Given the description of an element on the screen output the (x, y) to click on. 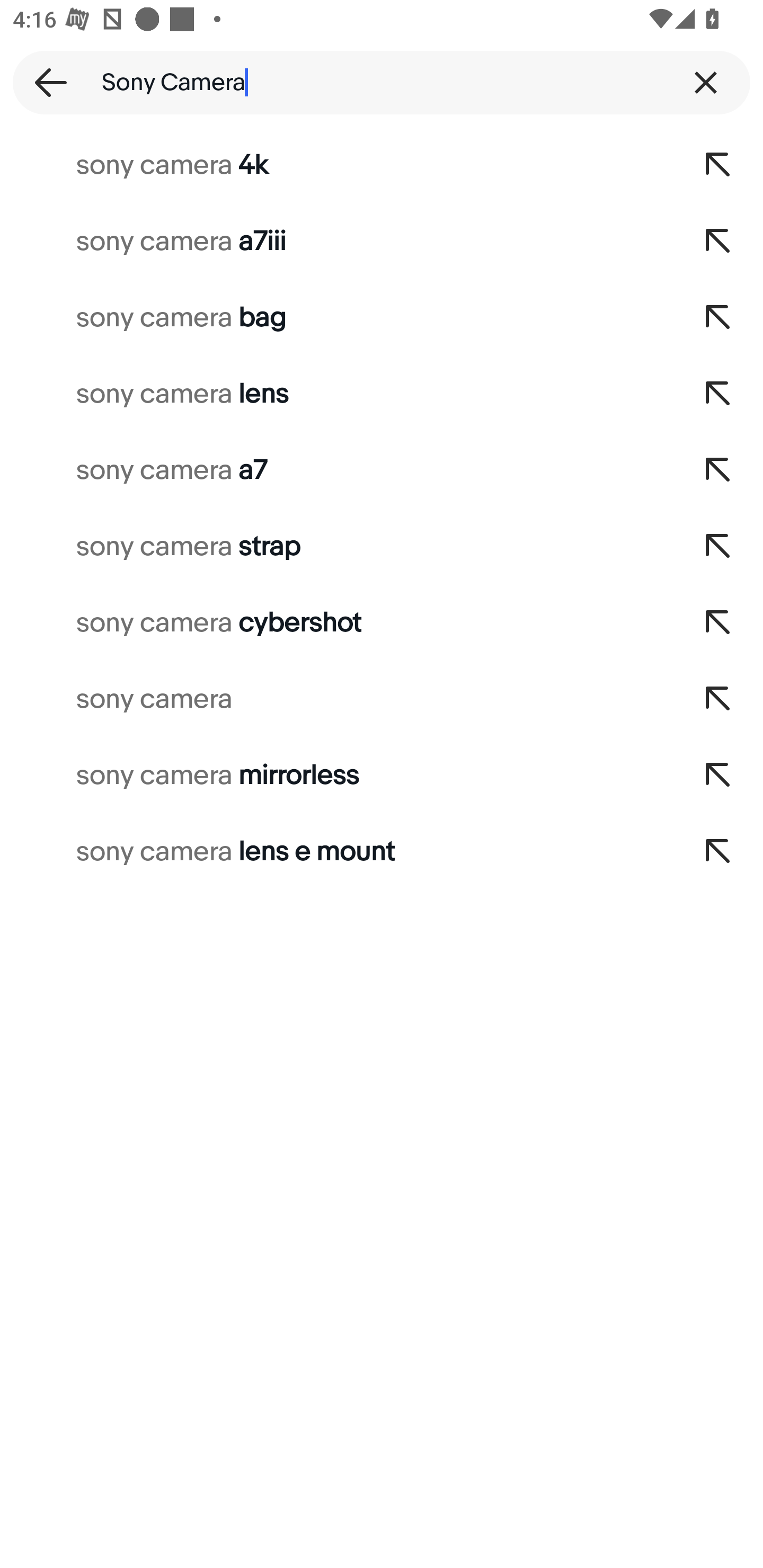
Back (44, 82)
Clear query (705, 82)
Sony Camera (381, 82)
sony camera 4k (336, 165)
Add to search query,sony camera 4k (718, 165)
sony camera a7iii (336, 241)
Add to search query,sony camera a7iii (718, 241)
sony camera bag (336, 317)
Add to search query,sony camera bag (718, 317)
sony camera lens (336, 393)
Add to search query,sony camera lens (718, 393)
sony camera a7 (336, 470)
Add to search query,sony camera a7 (718, 470)
sony camera strap (336, 546)
Add to search query,sony camera strap (718, 546)
sony camera cybershot (336, 622)
Add to search query,sony camera cybershot (718, 622)
sony camera (336, 698)
Add to search query,sony camera (718, 698)
sony camera mirrorless (336, 774)
Add to search query,sony camera mirrorless (718, 774)
sony camera lens e mount (336, 851)
Add to search query,sony camera lens e mount (718, 851)
